Given the description of an element on the screen output the (x, y) to click on. 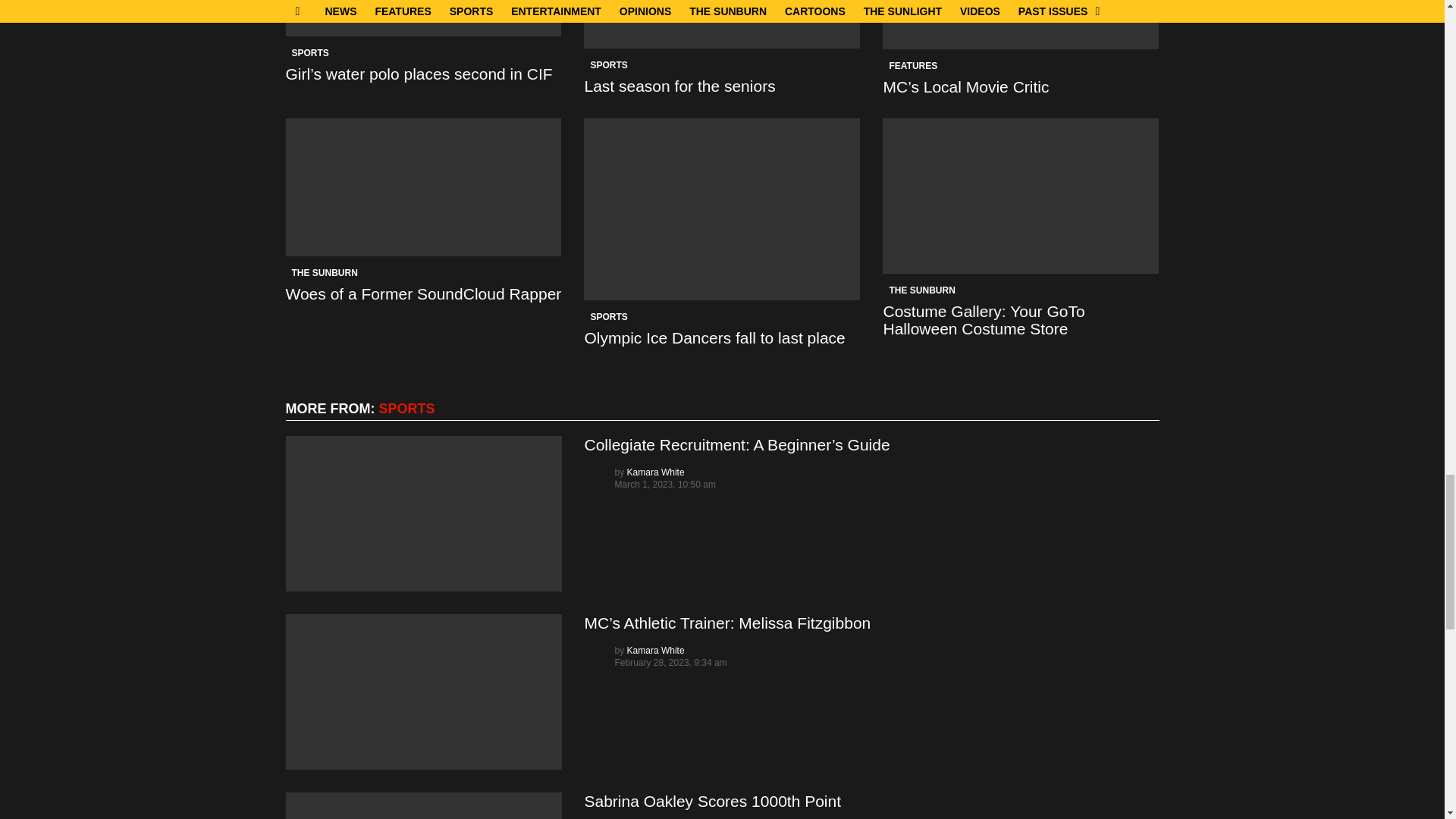
Sabrina Oakley Scores 1000th Point (422, 805)
Last season for the seniors (721, 24)
Olympic Ice Dancers fall to last place (721, 209)
Posts by Kamara White (655, 650)
Woes of a Former SoundCloud Rapper (422, 186)
Costume Gallery: Your GoTo Halloween Costume Store (1020, 195)
Posts by Kamara White (655, 471)
